Given the description of an element on the screen output the (x, y) to click on. 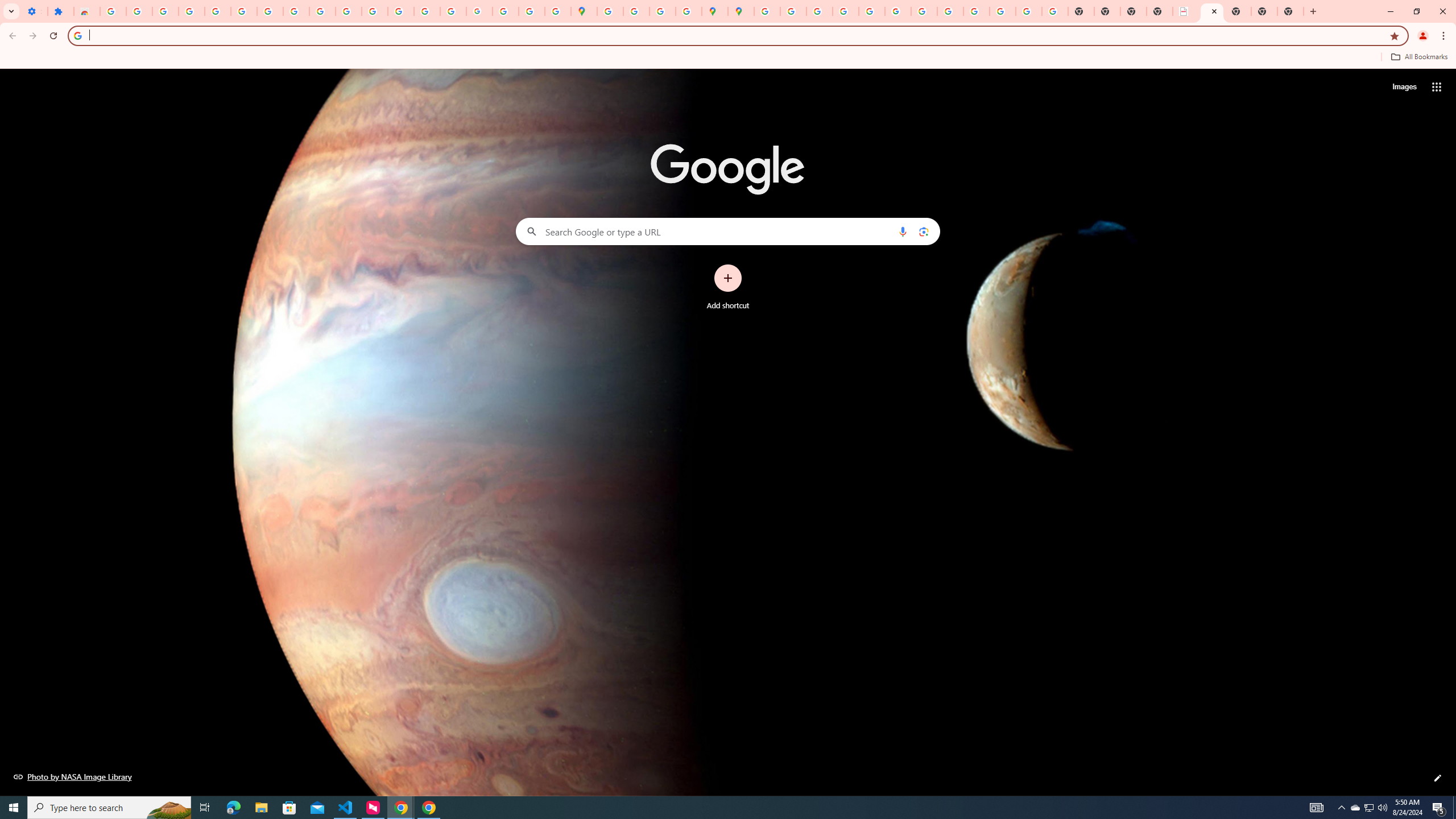
Search Google or type a URL (727, 230)
New Tab (1290, 11)
Privacy Help Center - Policies Help (845, 11)
Reviews: Helix Fruit Jump Arcade Game (86, 11)
